Given the description of an element on the screen output the (x, y) to click on. 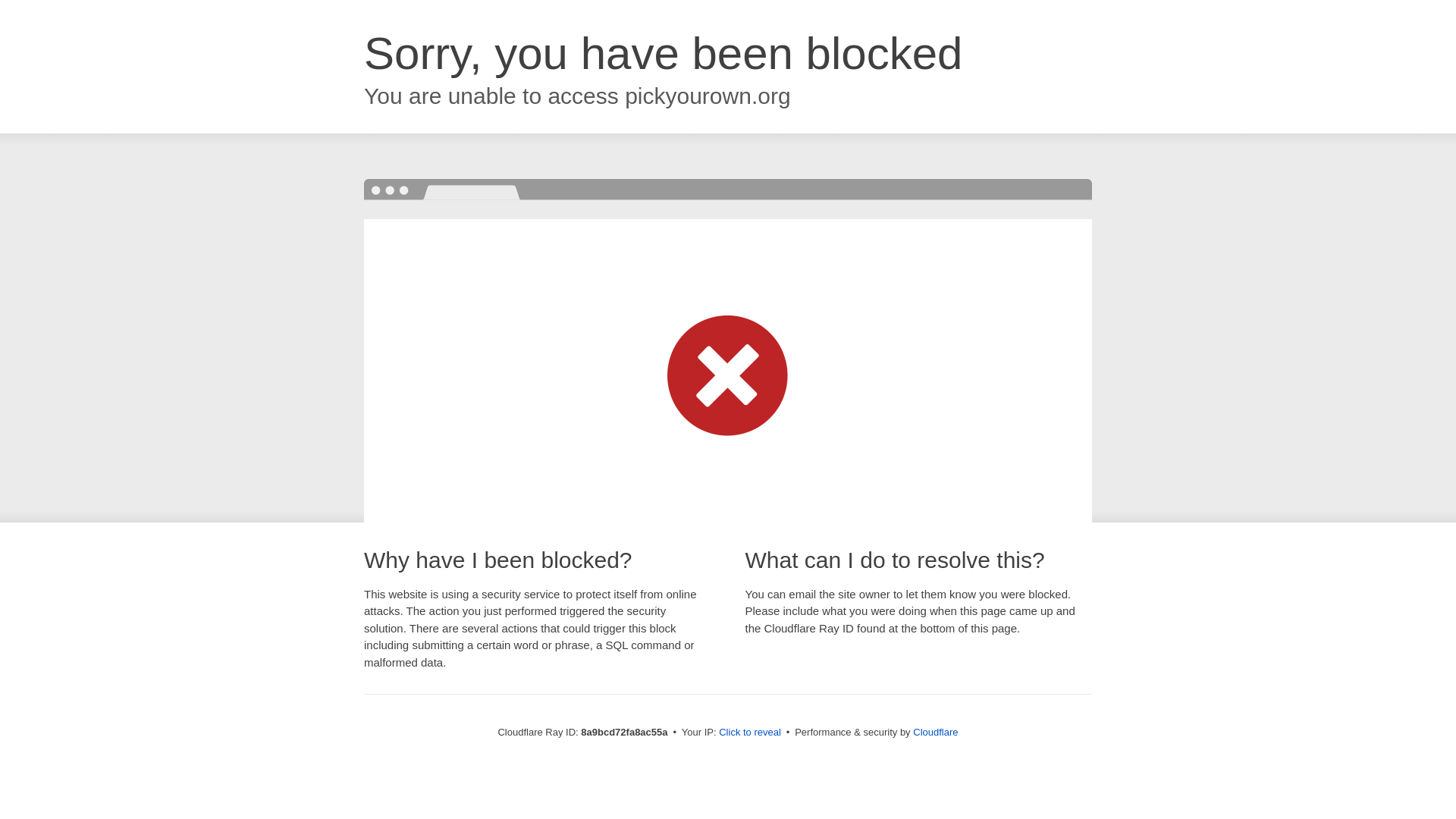
Cloudflare (935, 731)
Click to reveal (749, 732)
